Given the description of an element on the screen output the (x, y) to click on. 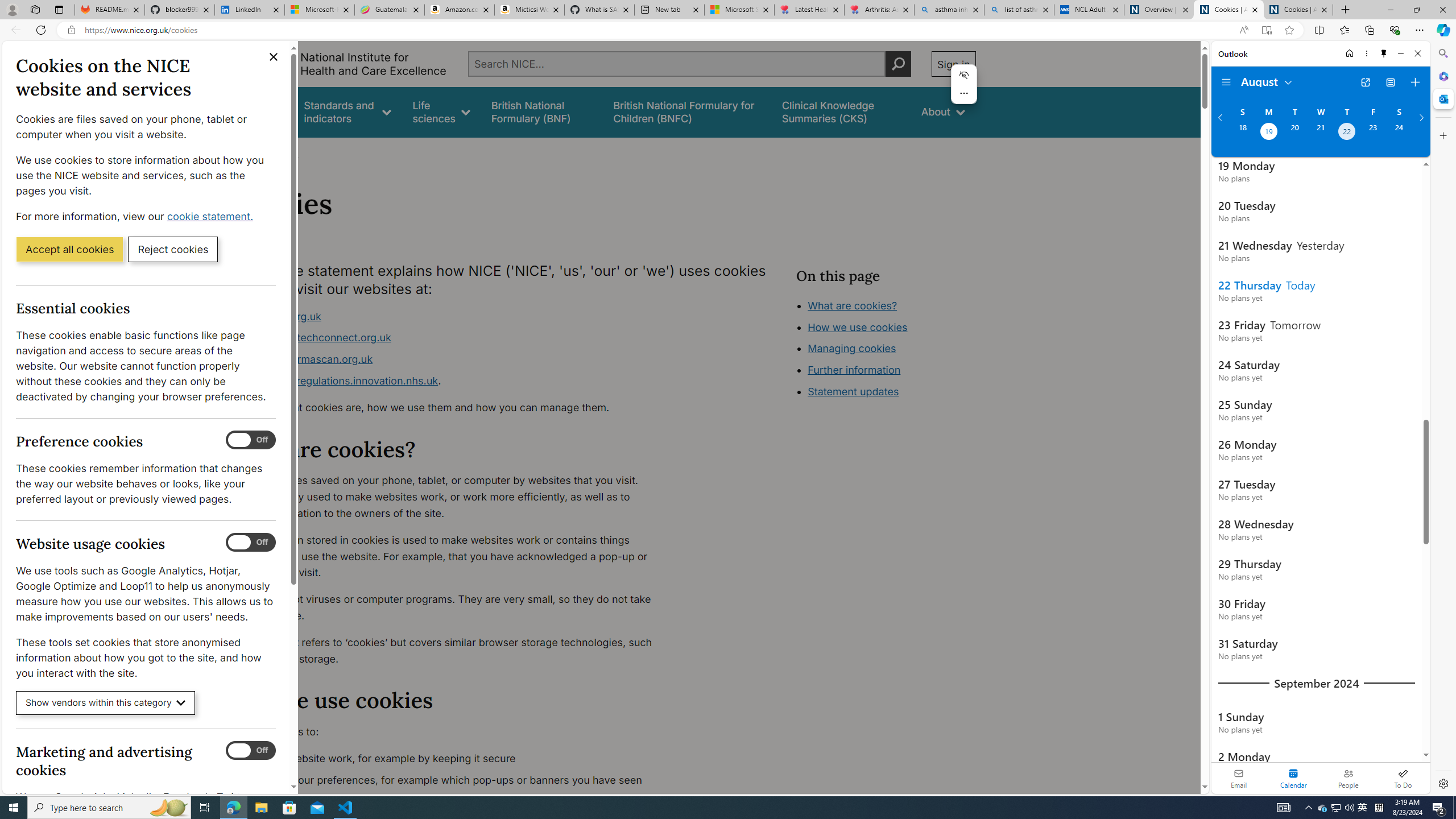
Mini menu on text selection (963, 90)
Folder navigation (1225, 82)
How we use cookies (896, 389)
